Given the description of an element on the screen output the (x, y) to click on. 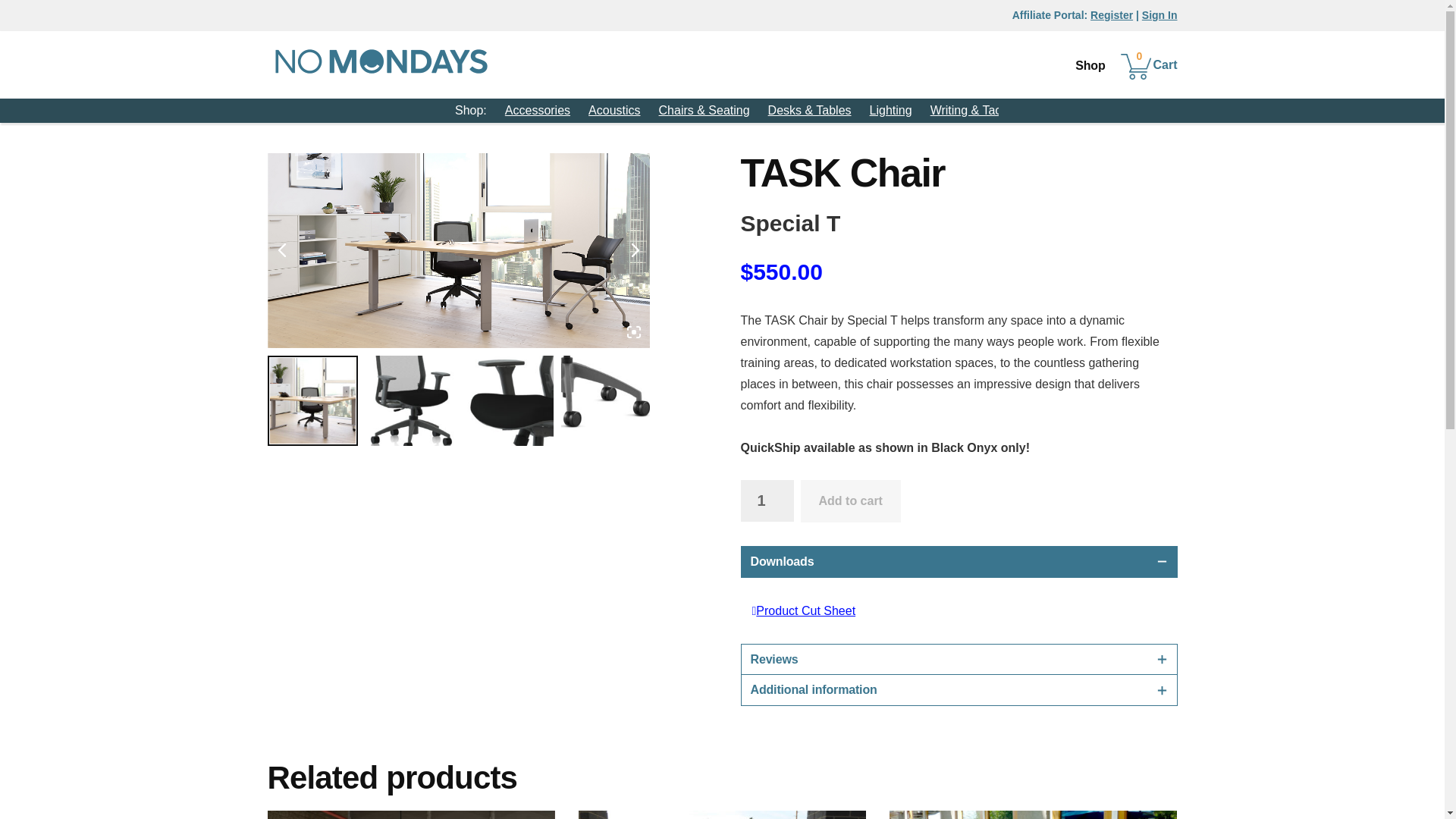
Lighting (890, 110)
Task-Close.jpg (508, 400)
Register (1111, 15)
Add to cart (850, 500)
Acoustics (614, 110)
0 (1149, 63)
1 (766, 500)
Shop (1089, 65)
Task-Casters.jpg (605, 400)
Product Cut Sheet (804, 610)
TaskChairHero.jpg (311, 400)
task-prev-1.jpg (410, 400)
Shop: (470, 110)
TaskChairHero.jpg (457, 250)
